Given the description of an element on the screen output the (x, y) to click on. 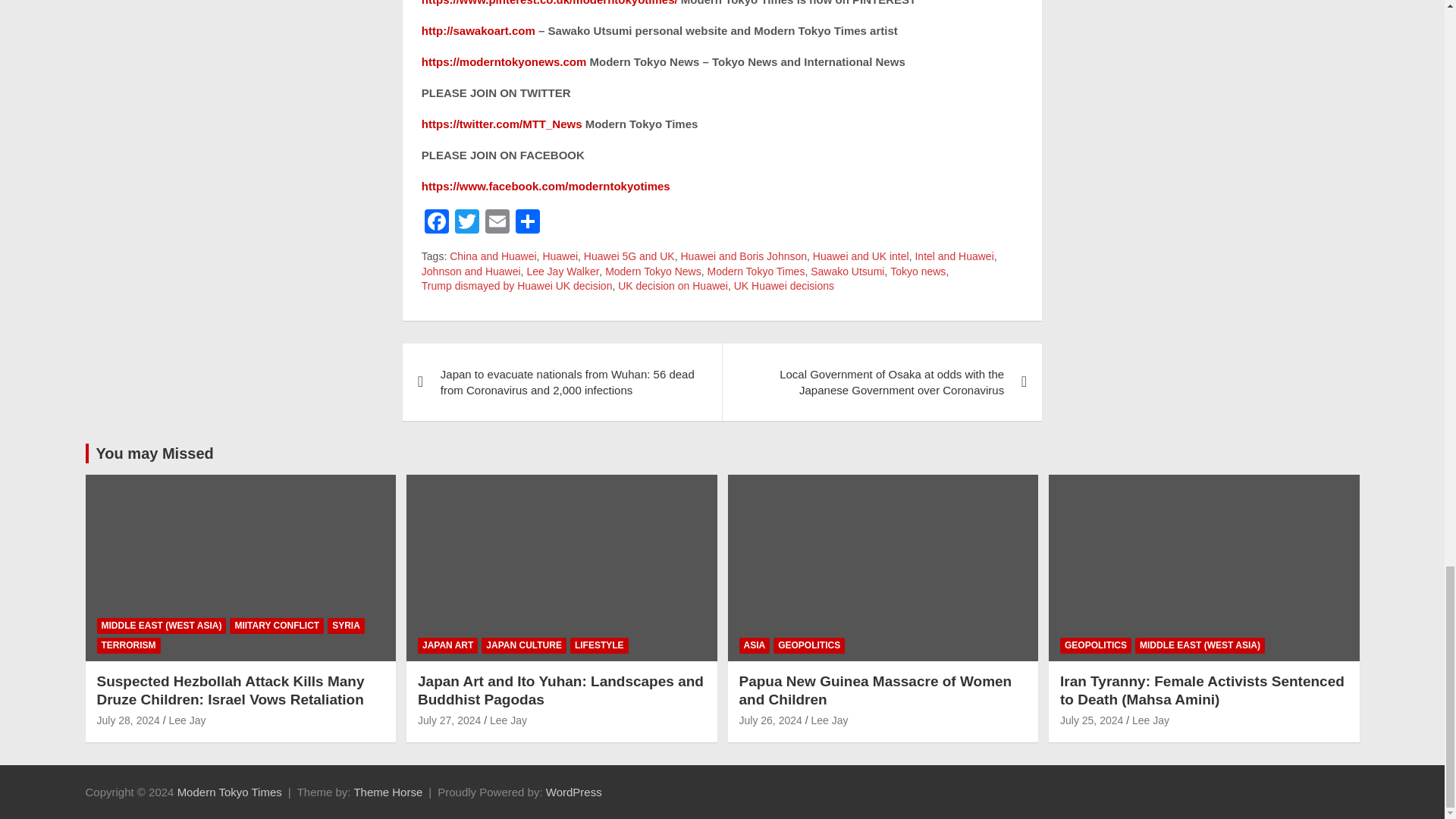
Twitter (466, 223)
Huawei (559, 256)
China and Huawei (492, 256)
Facebook (436, 223)
Share (527, 223)
Modern Tokyo Times (229, 791)
Twitter (466, 223)
Huawei 5G and UK (629, 256)
Theme Horse (387, 791)
Facebook (436, 223)
WordPress (574, 791)
Papua New Guinea Massacre of Women and Children (770, 720)
Email (496, 223)
Japan Art and Ito Yuhan: Landscapes and Buddhist Pagodas (448, 720)
